Given the description of an element on the screen output the (x, y) to click on. 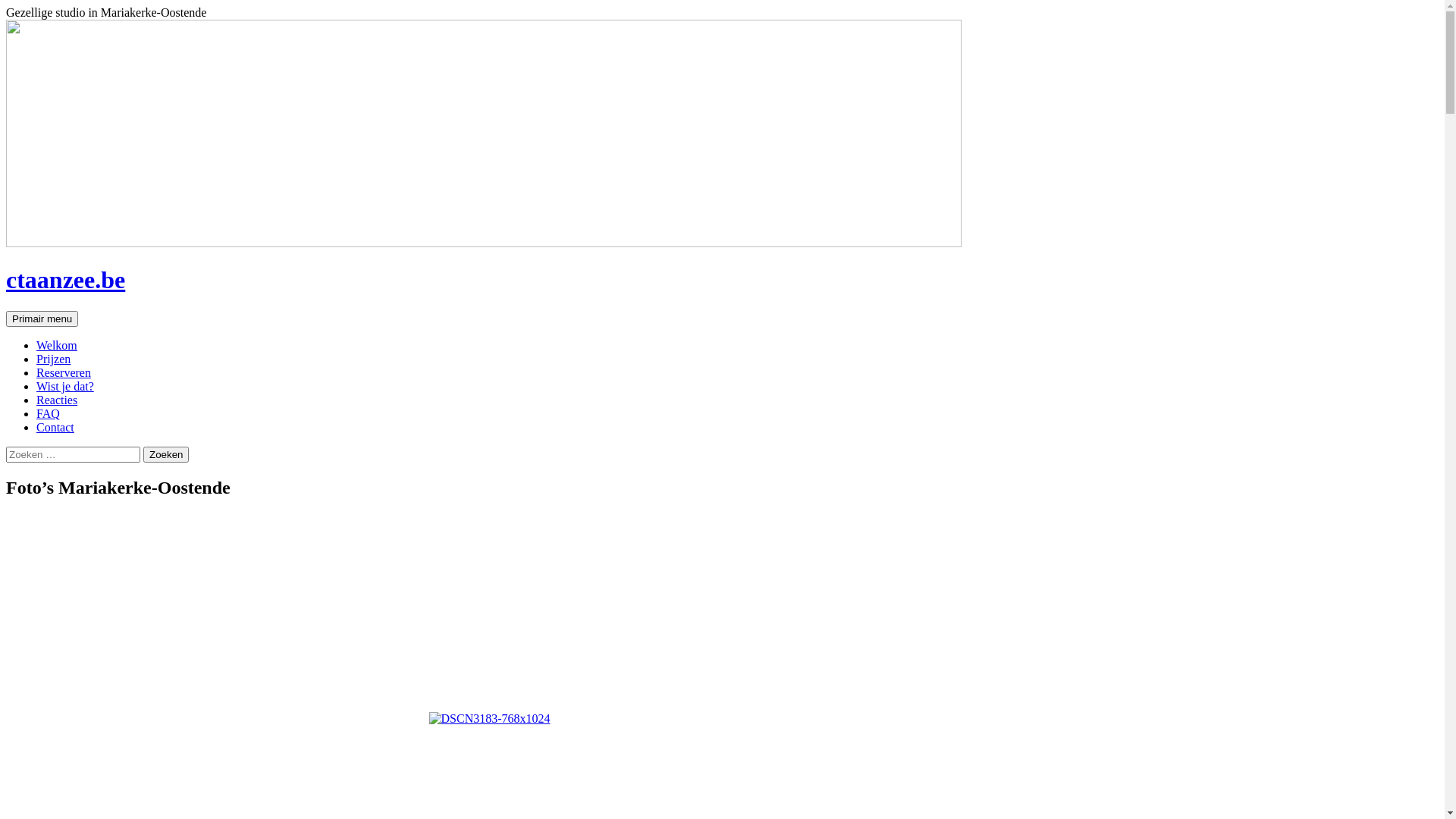
Primair menu Element type: text (42, 318)
Reacties Element type: text (56, 399)
Reserveren Element type: text (63, 372)
FAQ Element type: text (47, 413)
Zoeken Element type: text (165, 454)
ctaanzee.be Element type: text (65, 279)
Wist je dat? Element type: text (65, 385)
Prijzen Element type: text (53, 358)
Spring naar inhoud Element type: text (77, 310)
Welkom Element type: text (56, 344)
Zoeken Element type: text (5, 310)
Contact Element type: text (55, 426)
